Given the description of an element on the screen output the (x, y) to click on. 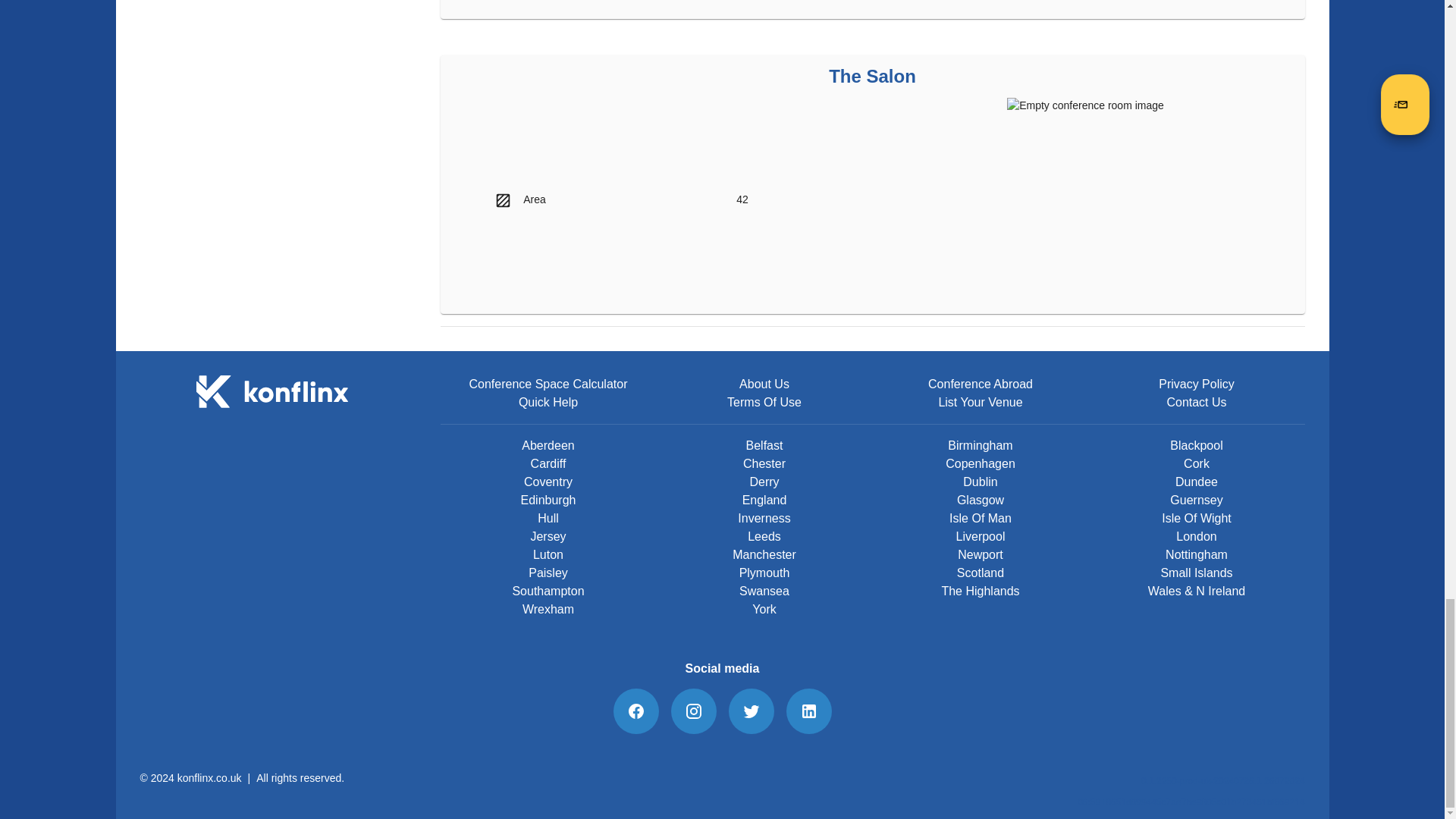
Privacy Policy (1196, 384)
About Us (764, 384)
Aberdeen (547, 445)
Quick Help (548, 402)
List Your Venue (979, 402)
Contact Us (1195, 402)
Privacy Policy (1196, 384)
Blackpool (1196, 445)
Quick Help (548, 402)
Contact us (1195, 402)
